Given the description of an element on the screen output the (x, y) to click on. 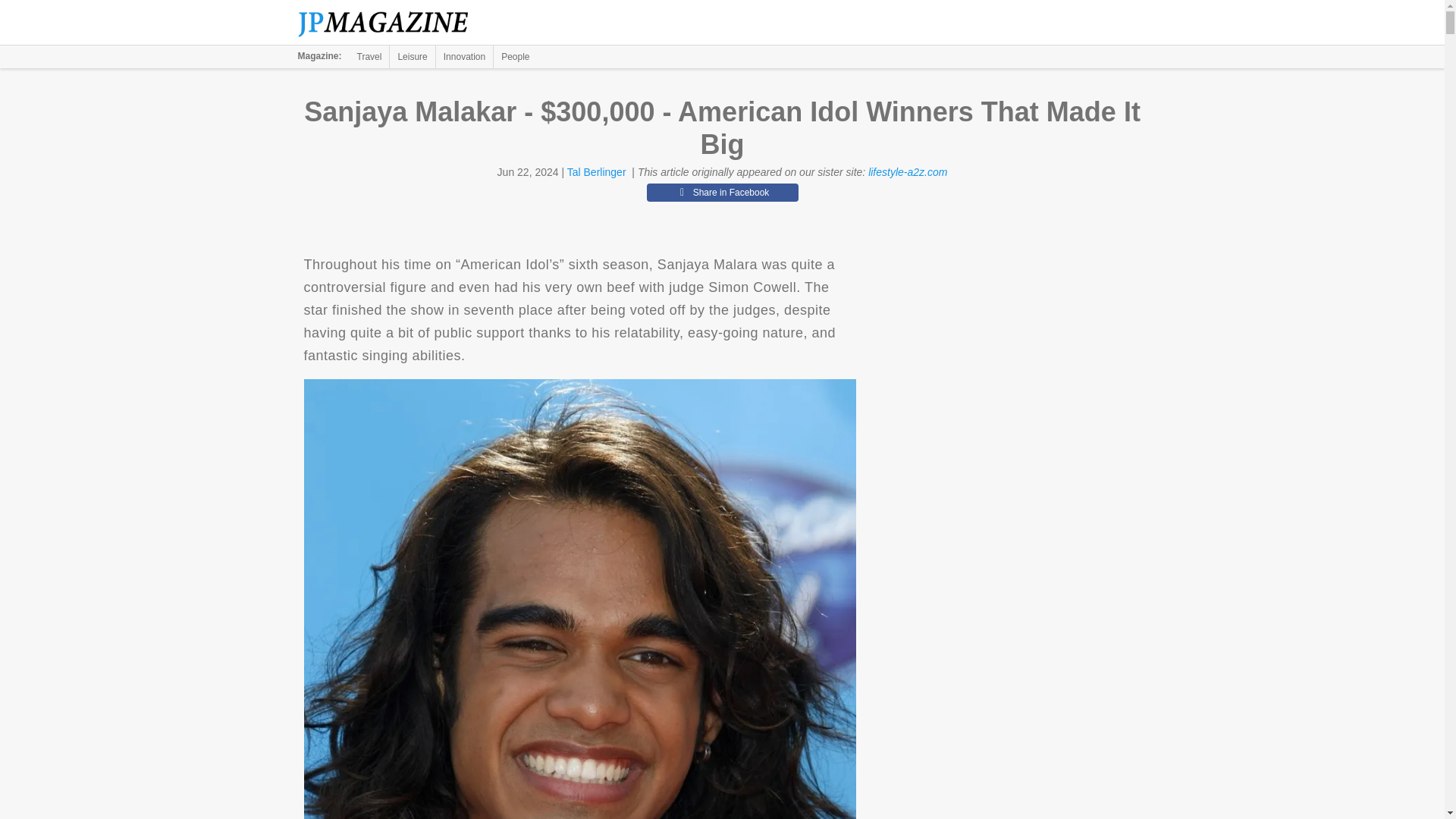
lifestyle-a2z.com (907, 172)
Travel (369, 56)
The Jerusalem Post Magazine (391, 22)
Innovation (464, 56)
People (515, 56)
Leisure (411, 56)
Tal Berlinger (596, 172)
Share in Facebook (721, 192)
